Given the description of an element on the screen output the (x, y) to click on. 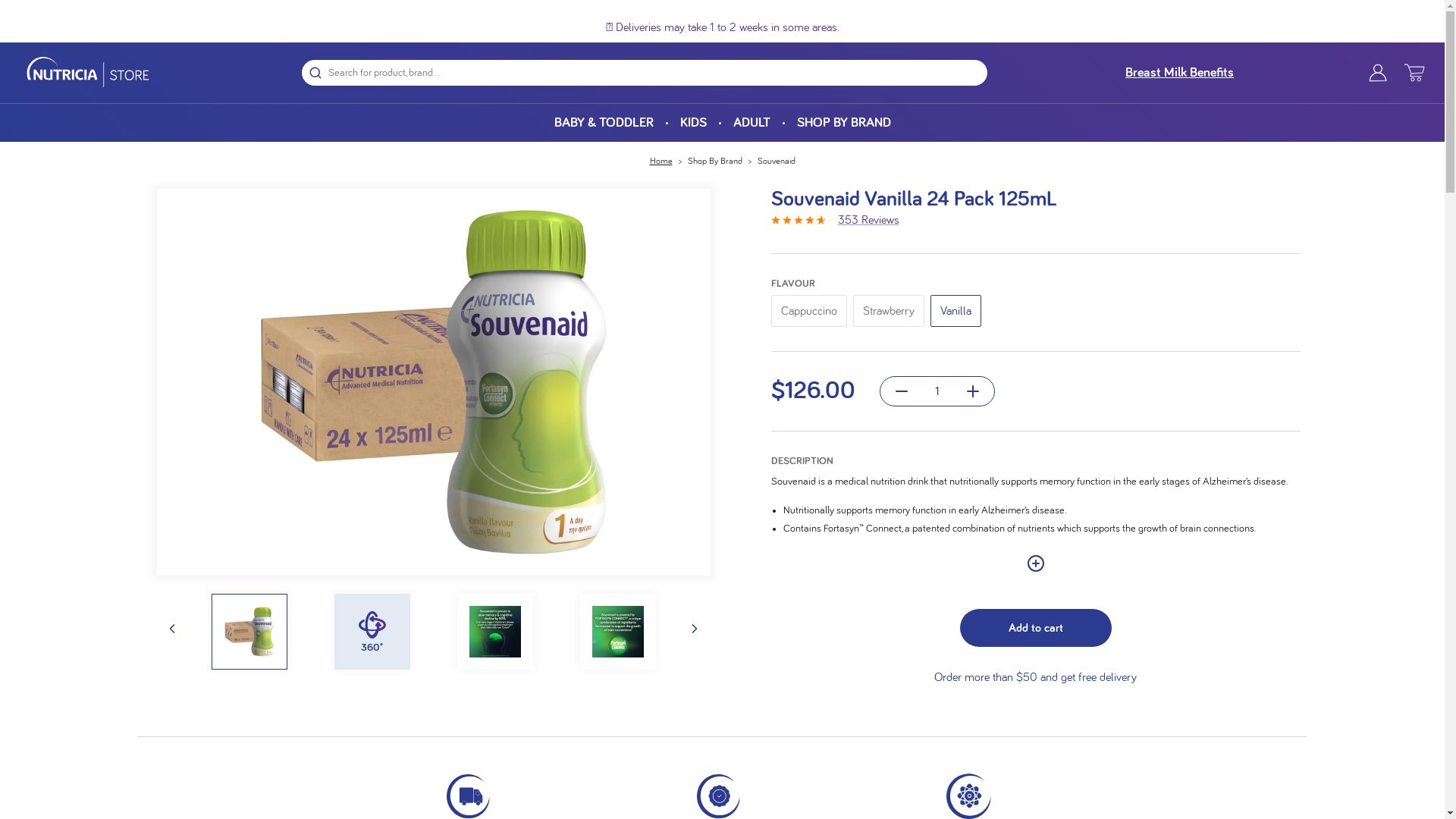
Apply Element type: text (1199, 321)
KIDS Element type: text (692, 122)
Strawberry Element type: text (890, 307)
Add to cart Element type: text (1035, 627)
Home Element type: text (660, 158)
Shop By Brand Element type: text (714, 158)
ADULT Element type: text (750, 122)
353 Reviews Element type: text (867, 219)
Vanilla Element type: text (957, 307)
SHOP BY BRAND Element type: text (843, 122)
BABY & TODDLER Element type: text (603, 122)
Cappuccino Element type: text (811, 307)
Breast Milk Benefits Element type: text (1179, 72)
